Given the description of an element on the screen output the (x, y) to click on. 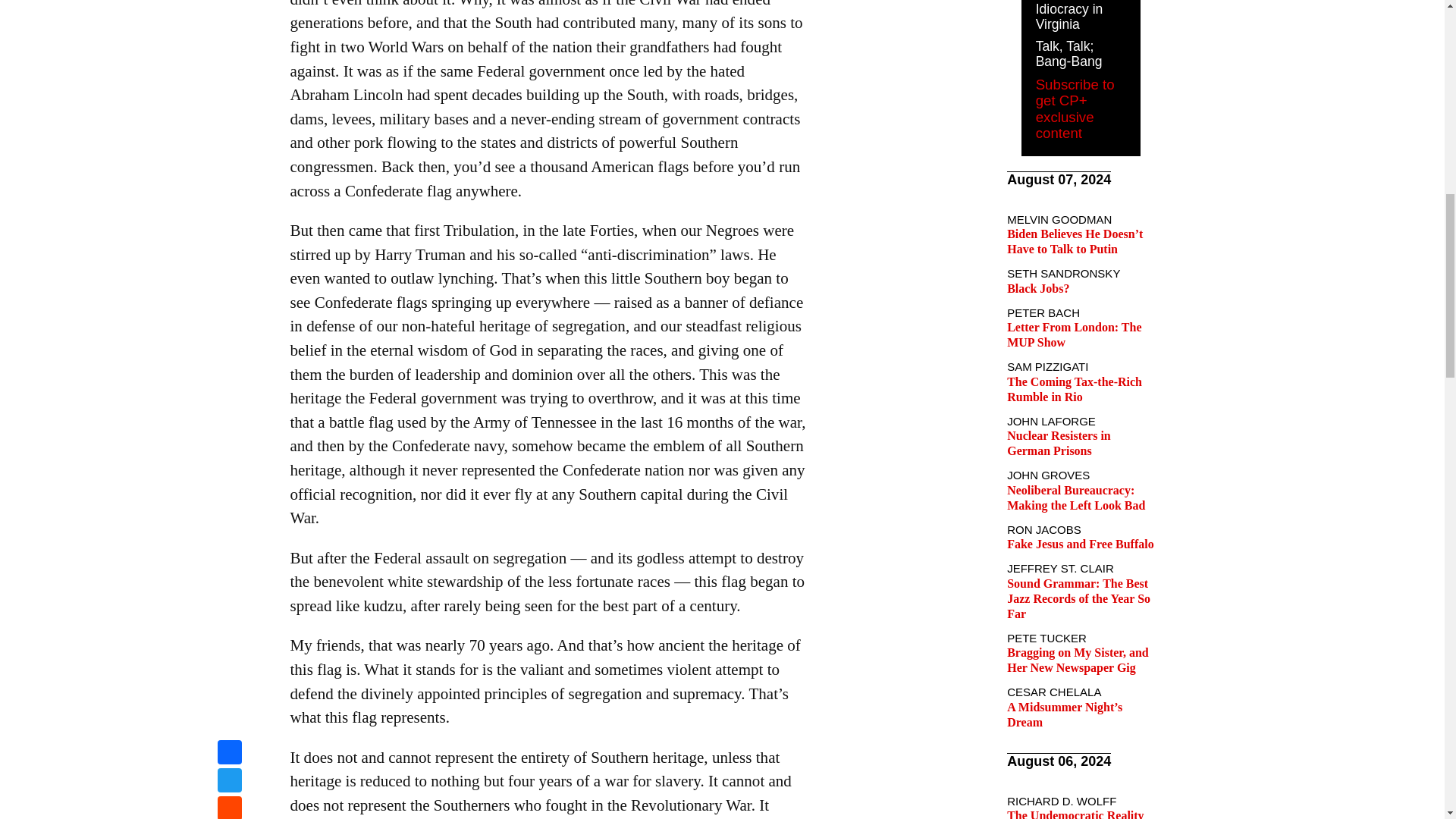
Idiocracy in Virginia (1069, 16)
Email (229, 18)
Email (229, 18)
Reddit (229, 2)
Reddit (229, 2)
Talk, Talk; Bang-Bang (1068, 53)
